Given the description of an element on the screen output the (x, y) to click on. 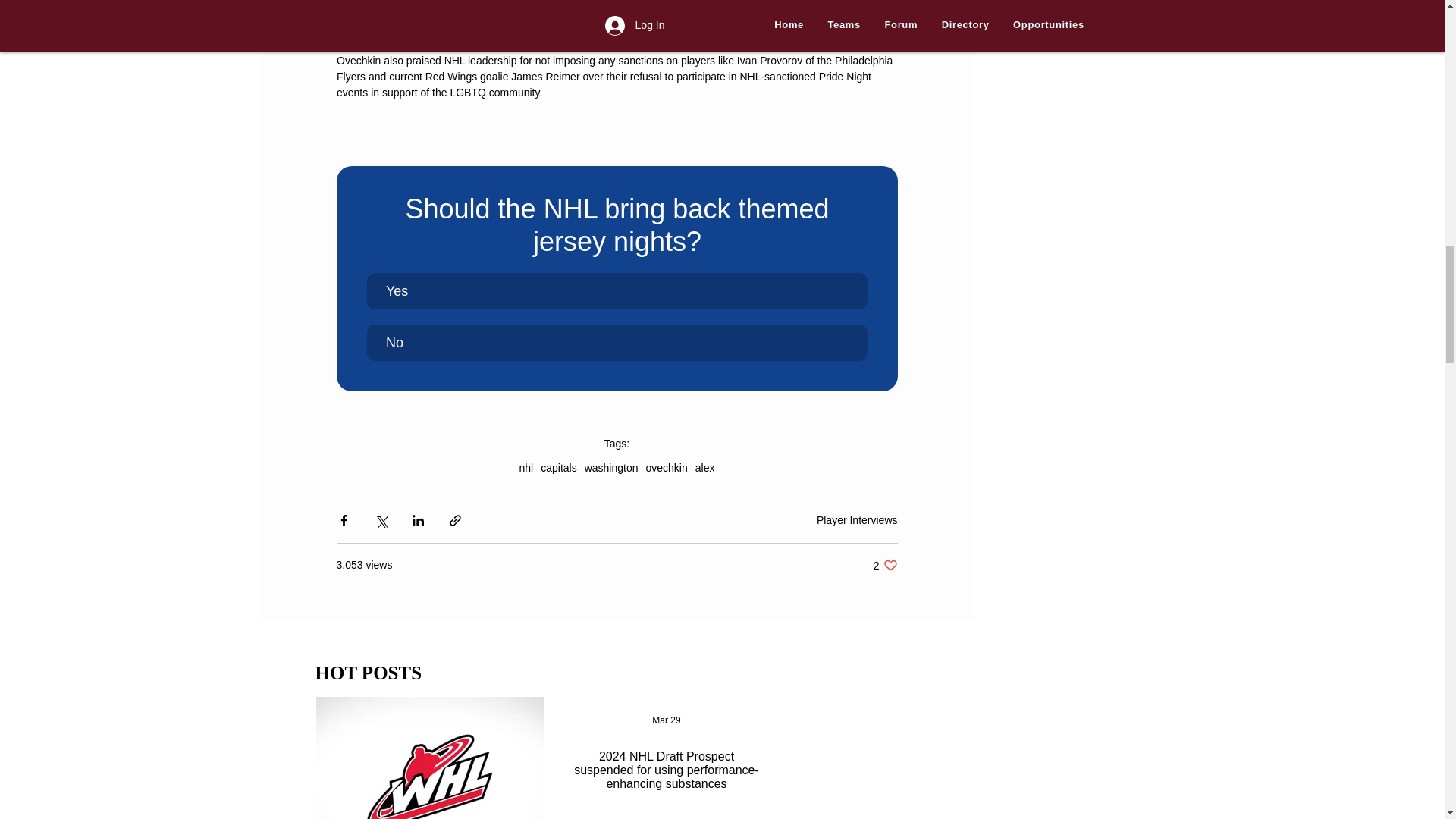
Mar 29 (665, 719)
